Given the description of an element on the screen output the (x, y) to click on. 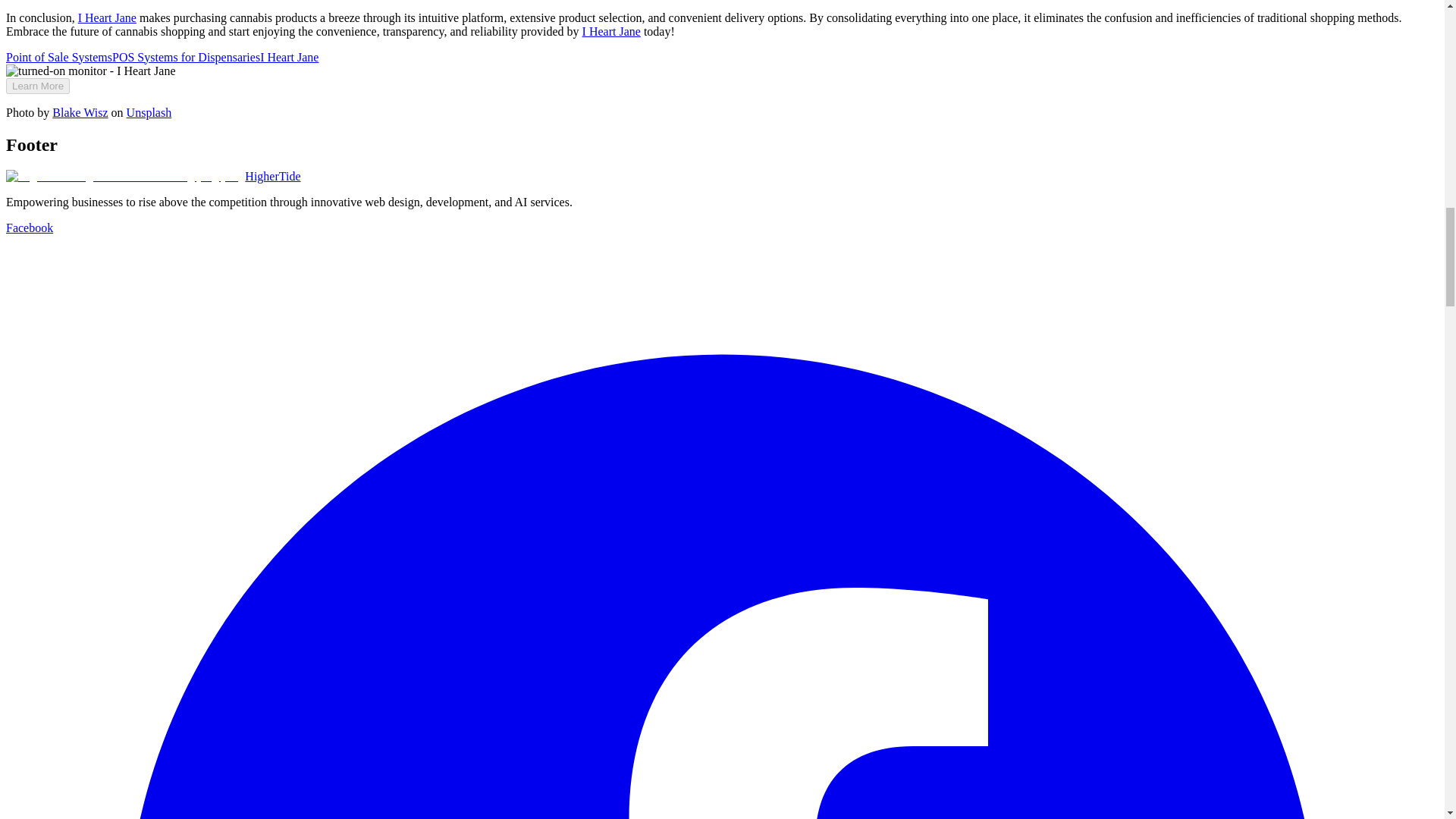
I Heart Jane (289, 56)
I Heart Jane (107, 17)
Point of Sale Systems (58, 56)
POS Systems for Dispensaries (186, 56)
I Heart Jane (611, 31)
